Given the description of an element on the screen output the (x, y) to click on. 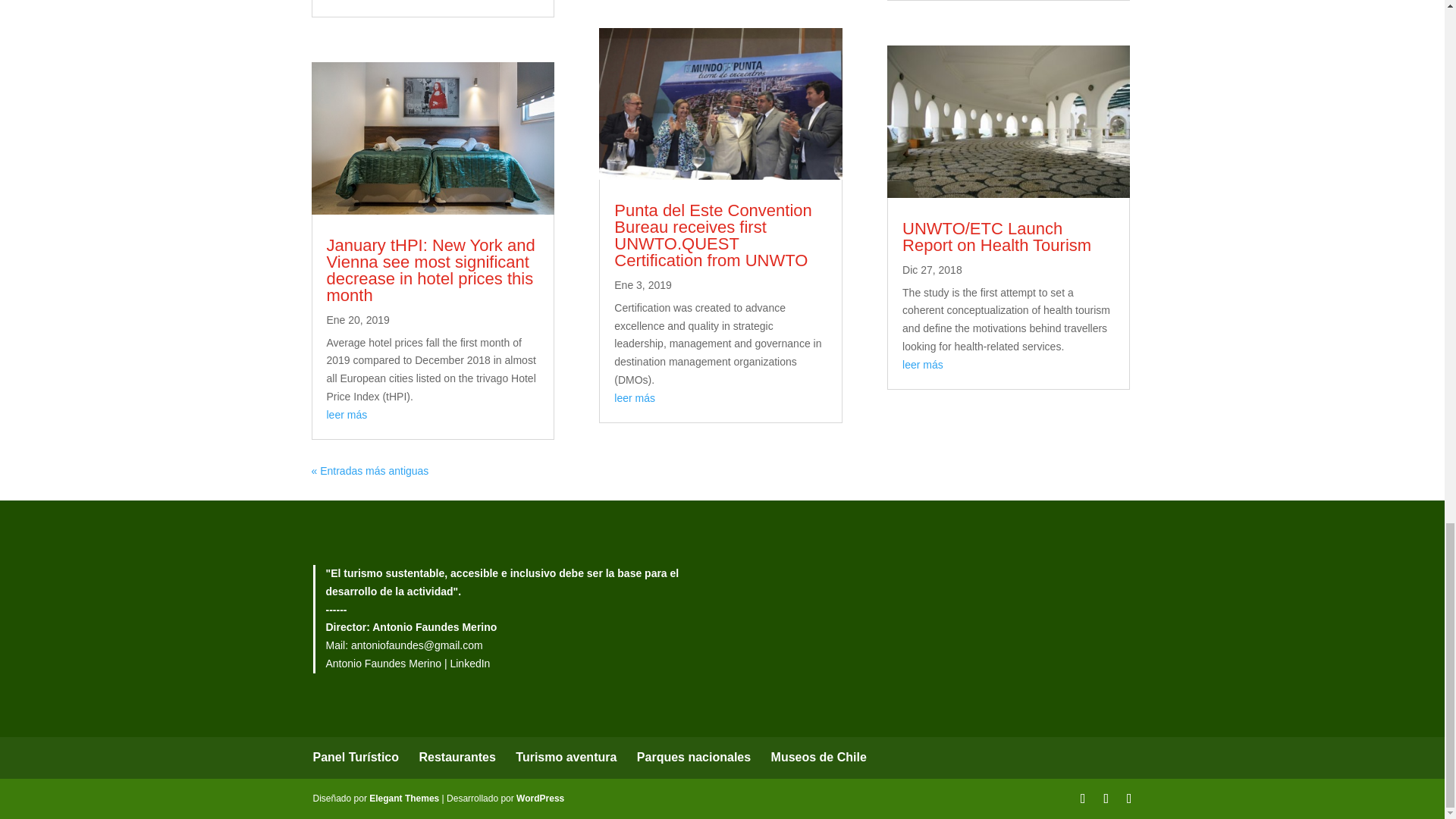
Premium WordPress Themes (404, 798)
